Given the description of an element on the screen output the (x, y) to click on. 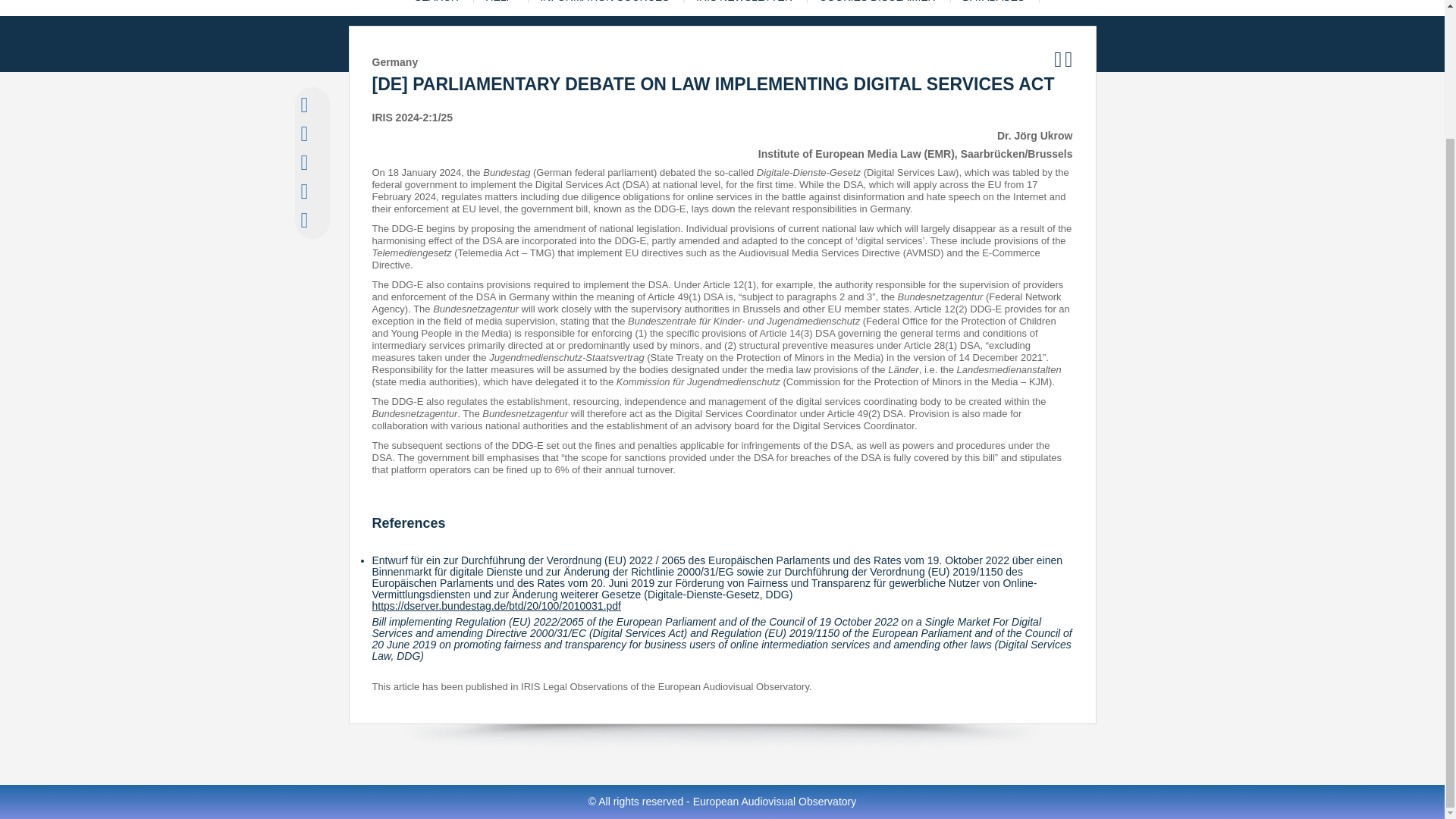
INFORMATION SOURCES (604, 7)
COOKIES DISCLAIMER (876, 7)
HELP (499, 7)
DATABASES (993, 7)
IRIS NEWSLETTER (744, 7)
SEARCH (435, 7)
